Given the description of an element on the screen output the (x, y) to click on. 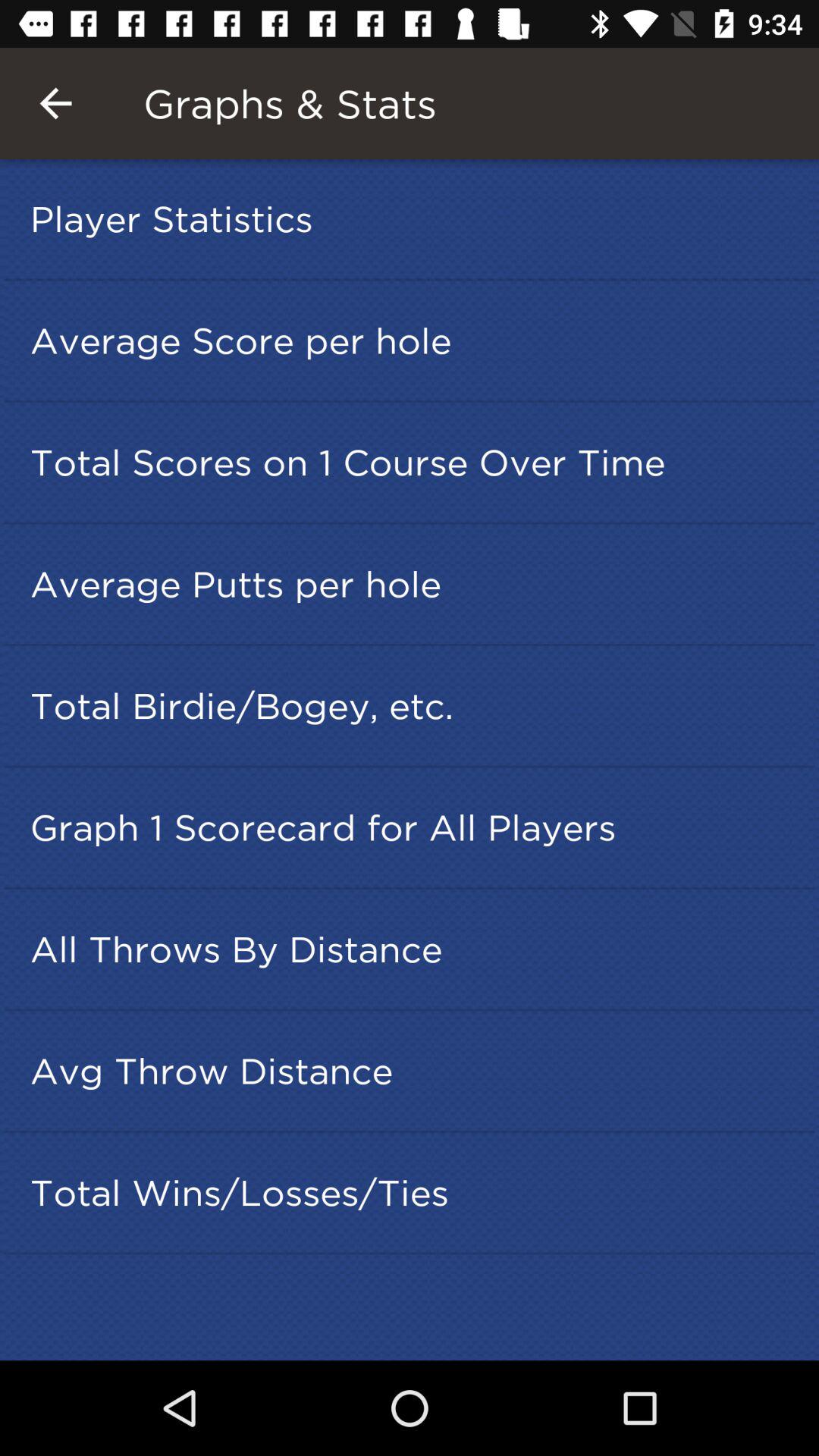
open graph 1 scorecard item (414, 827)
